Given the description of an element on the screen output the (x, y) to click on. 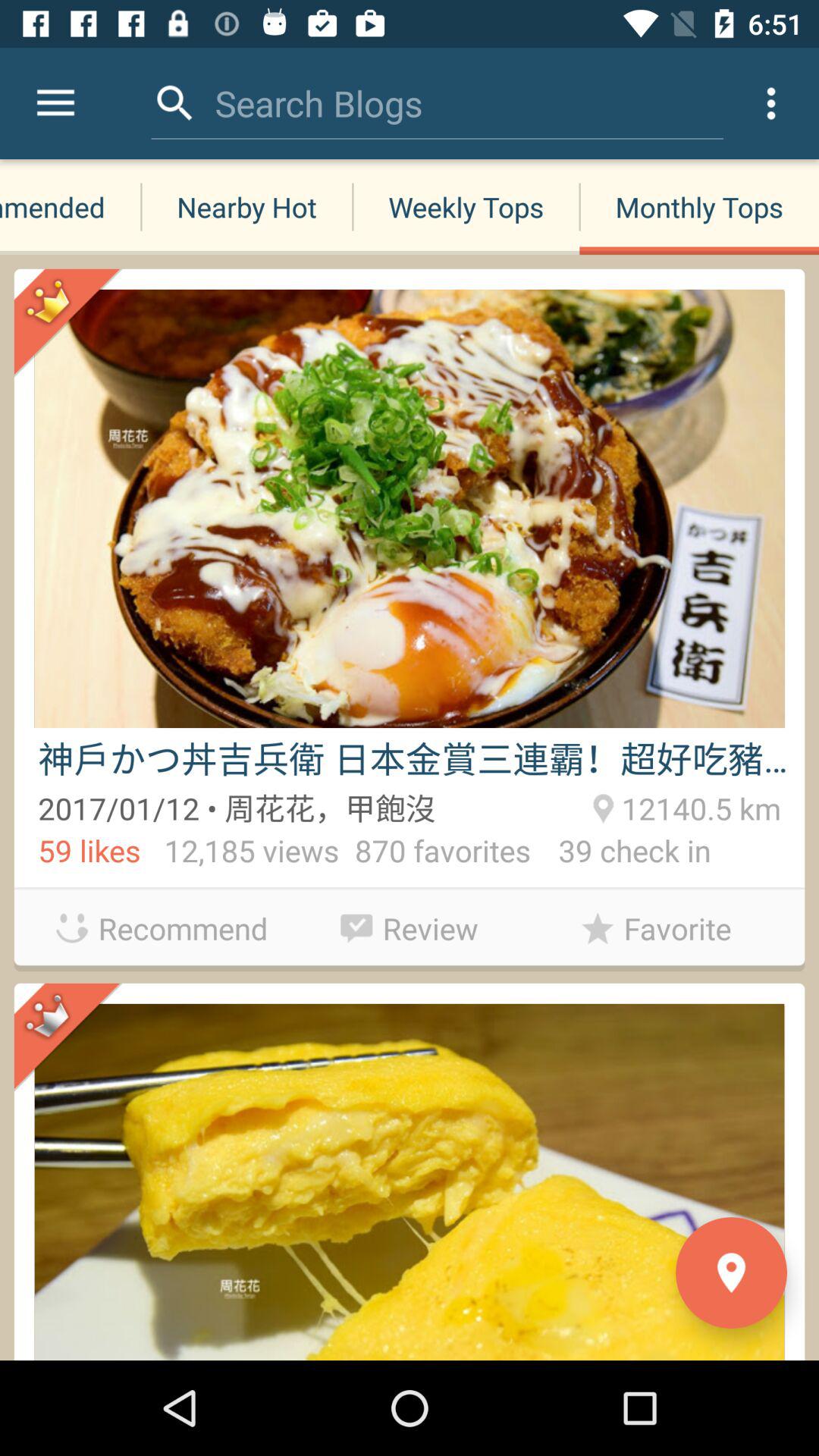
press the item to the left of monthly tops item (465, 206)
